Given the description of an element on the screen output the (x, y) to click on. 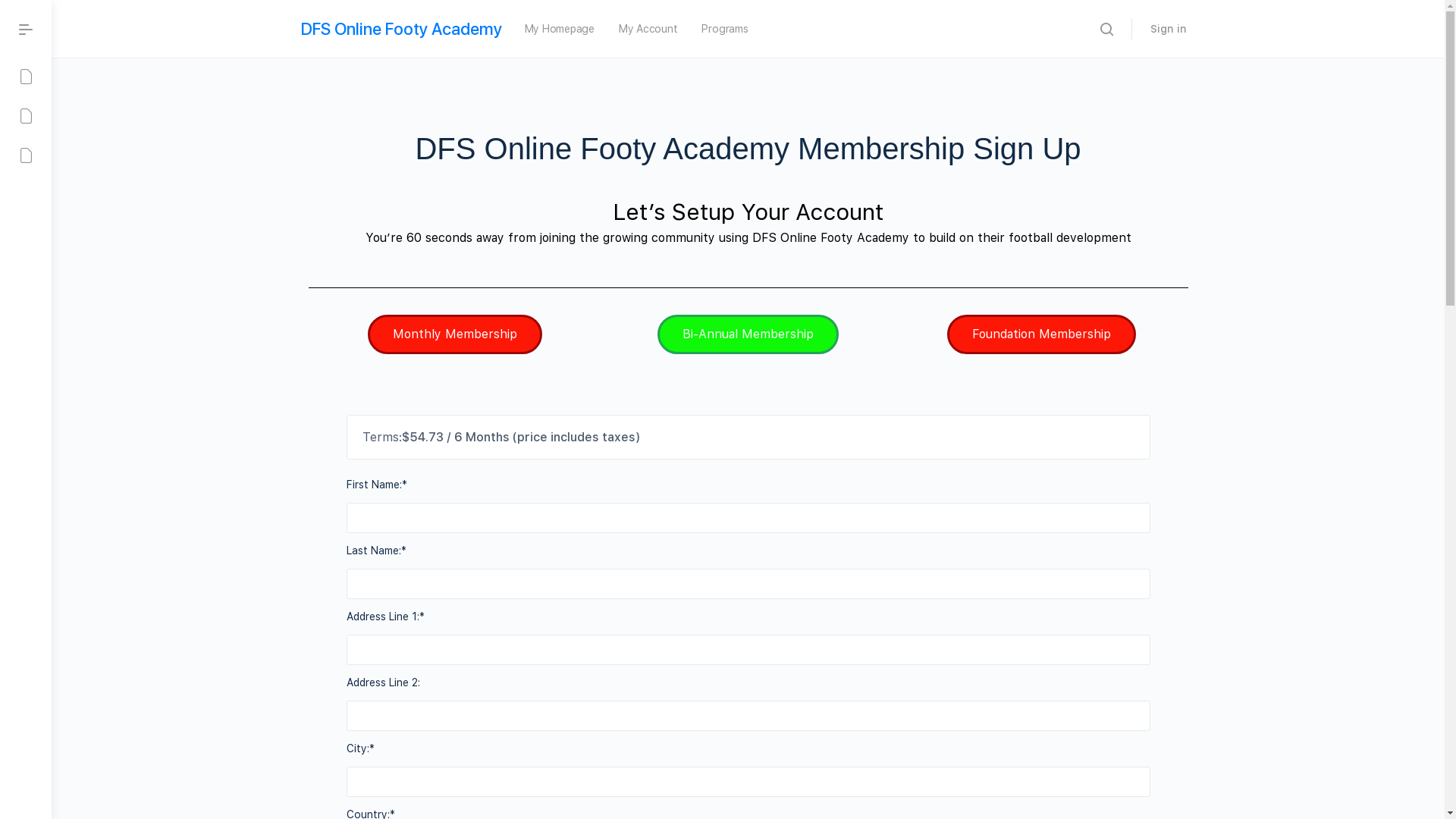
My Account Element type: text (647, 28)
Programs Element type: text (724, 28)
DFS Online Footy Academy Element type: text (400, 28)
Sign in Element type: text (1167, 28)
Monthly Membership Element type: text (454, 334)
My Homepage Element type: text (559, 28)
Foundation Membership Element type: text (1041, 334)
Bi-Annual Membership Element type: text (747, 334)
